Given the description of an element on the screen output the (x, y) to click on. 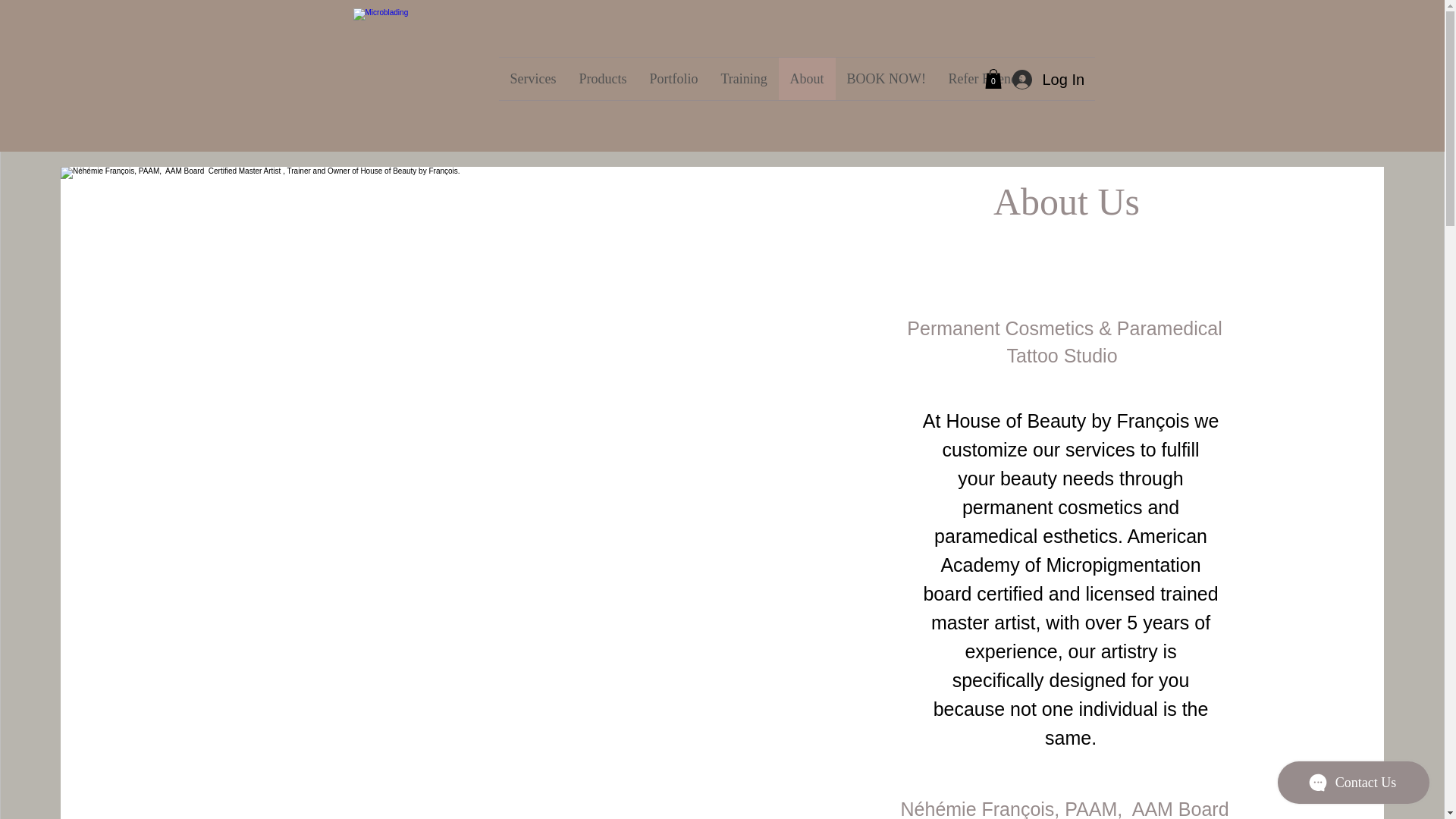
Training (744, 78)
0 (992, 78)
Services (533, 78)
Portfolio (674, 78)
BOOK NOW! (886, 78)
0 (992, 78)
Log In (1042, 78)
Products (602, 78)
Refer Friends (985, 78)
About (805, 78)
